Given the description of an element on the screen output the (x, y) to click on. 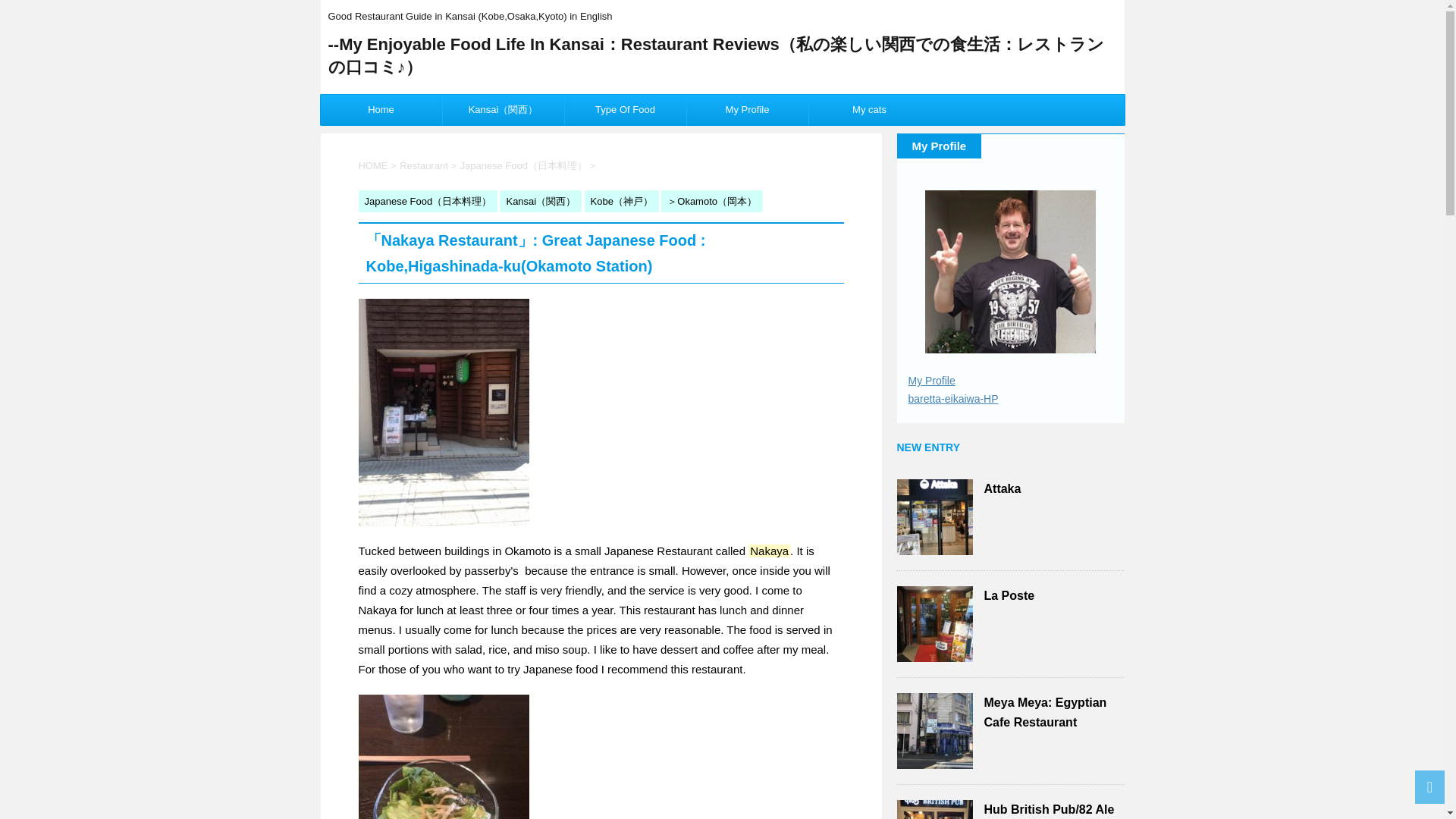
Home (380, 110)
